Given the description of an element on the screen output the (x, y) to click on. 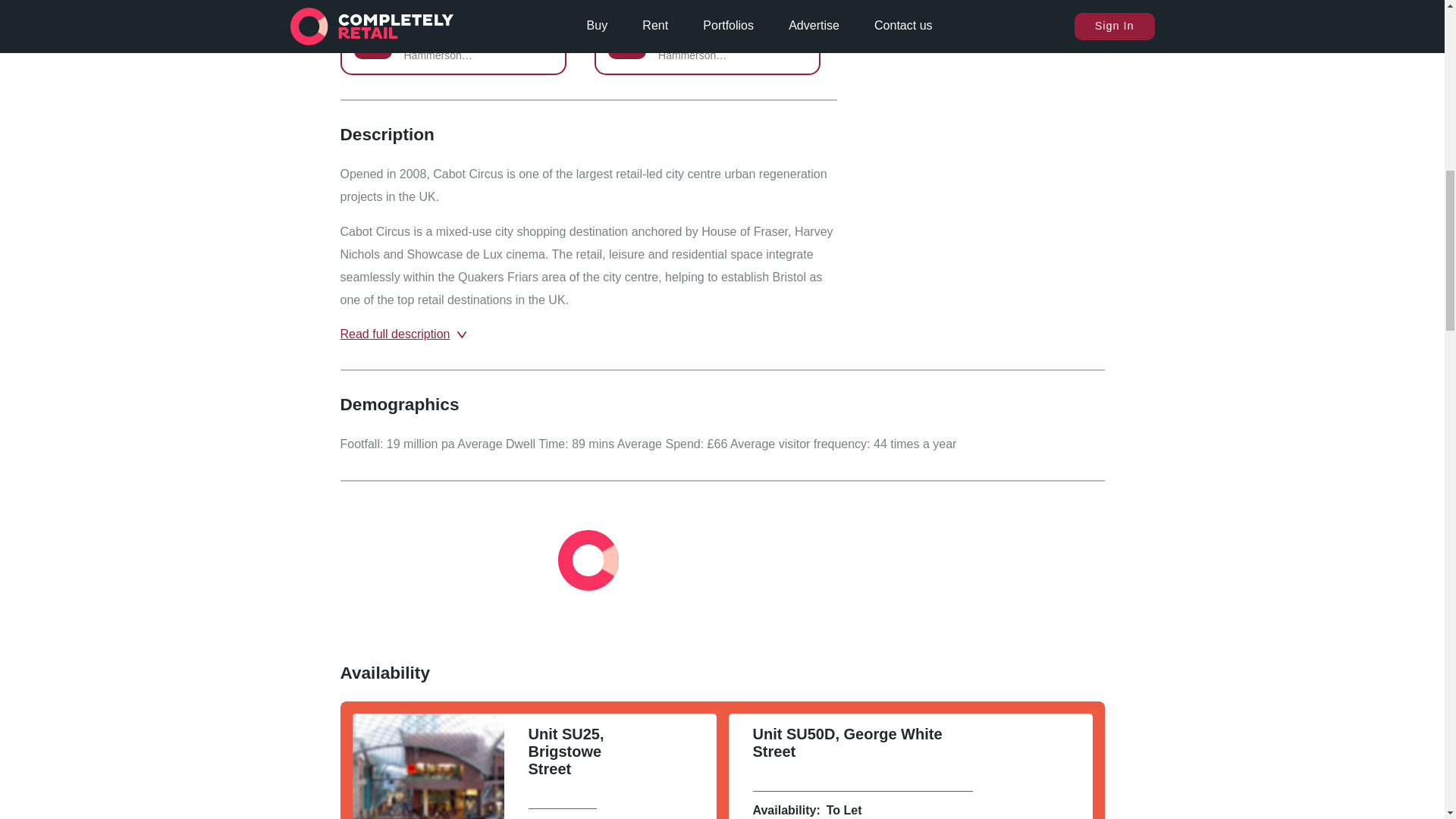
Read full description (415, 333)
Unit SU25, Brigstowe Street (555, 760)
